Given the description of an element on the screen output the (x, y) to click on. 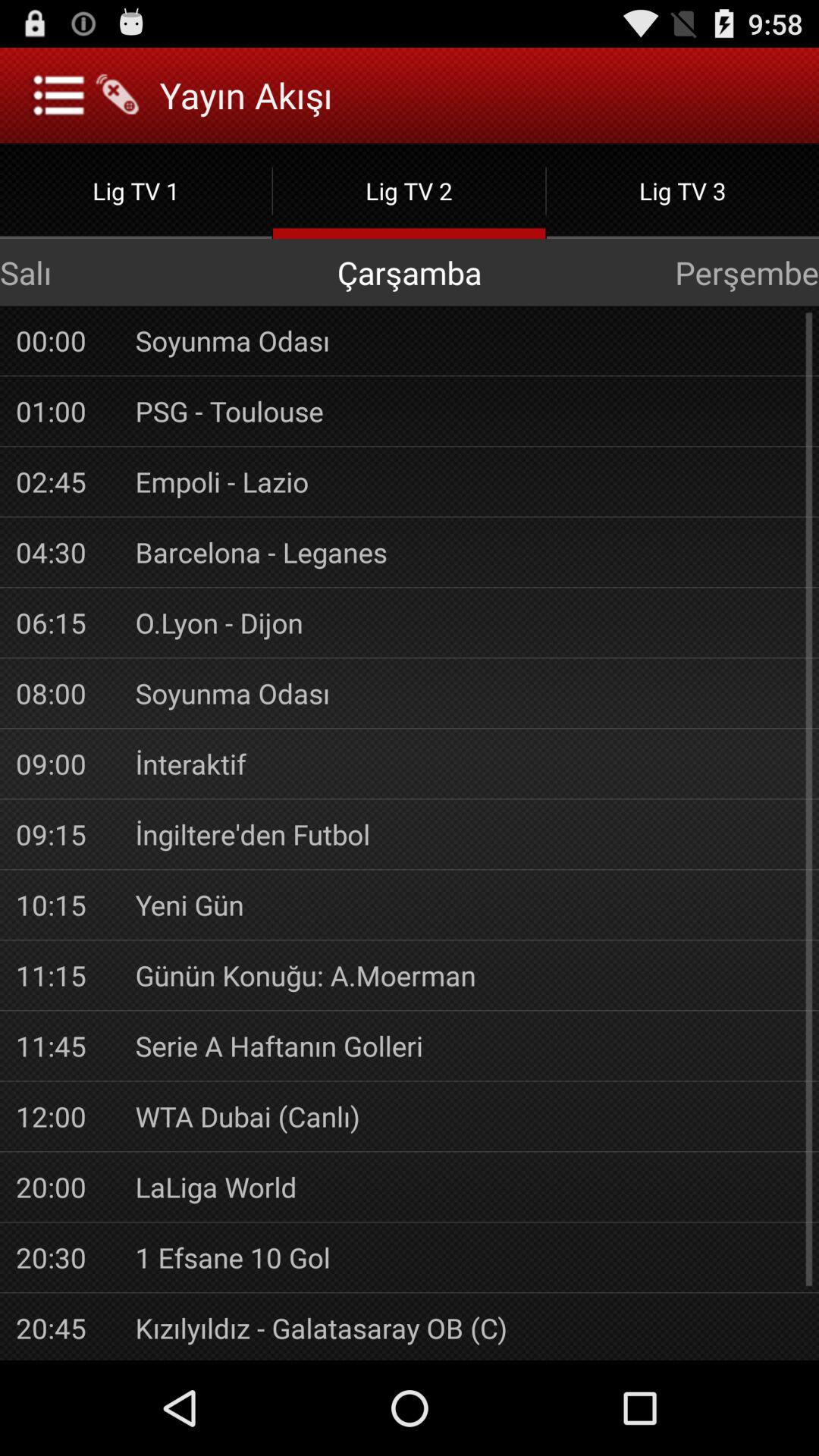
select the app below the 1 efsane 10 item (469, 1327)
